Given the description of an element on the screen output the (x, y) to click on. 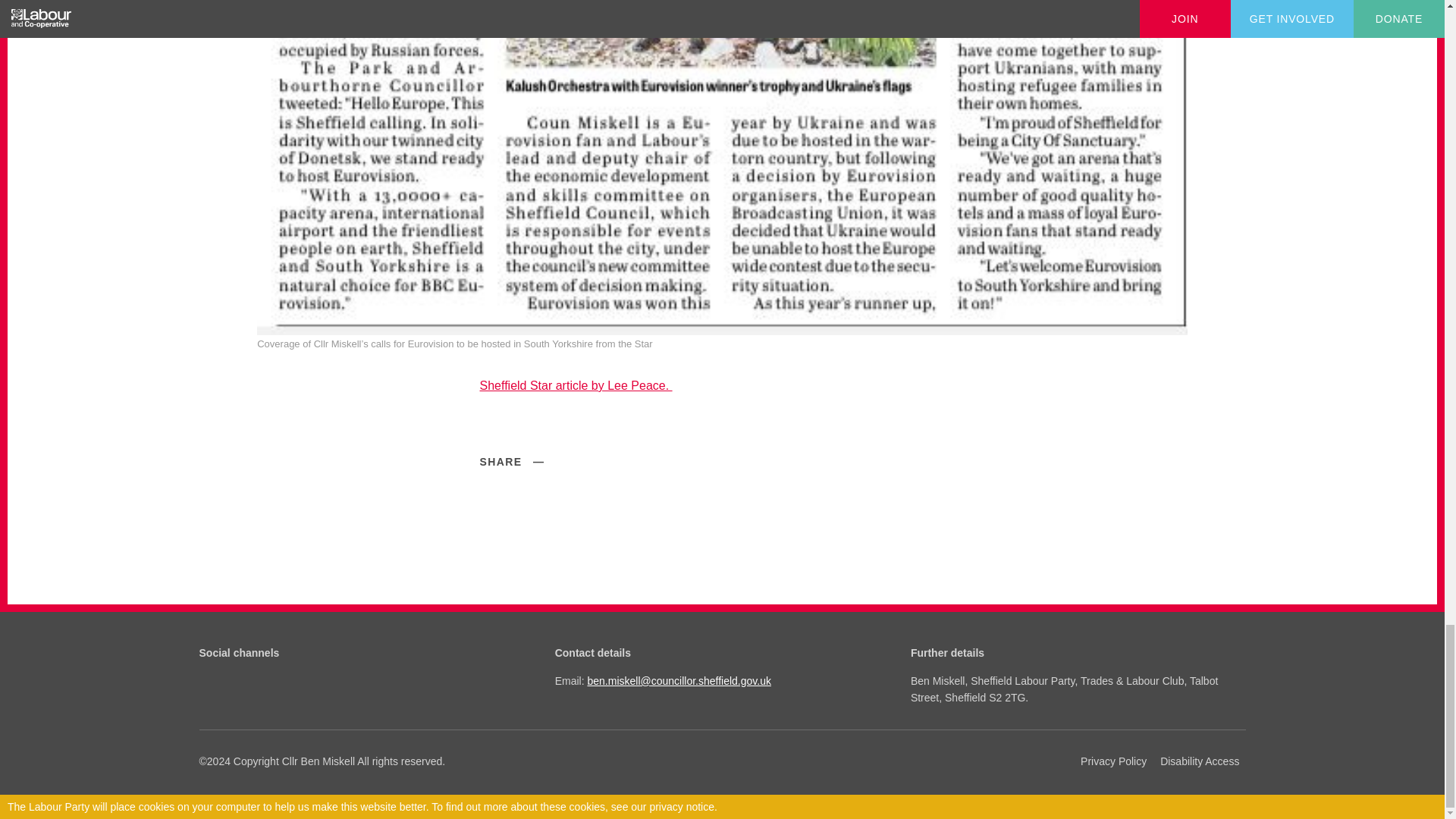
Sheffield Star article by Lee Peace.  (575, 385)
Privacy Policy (1113, 761)
Disability Access (1199, 761)
